Given the description of an element on the screen output the (x, y) to click on. 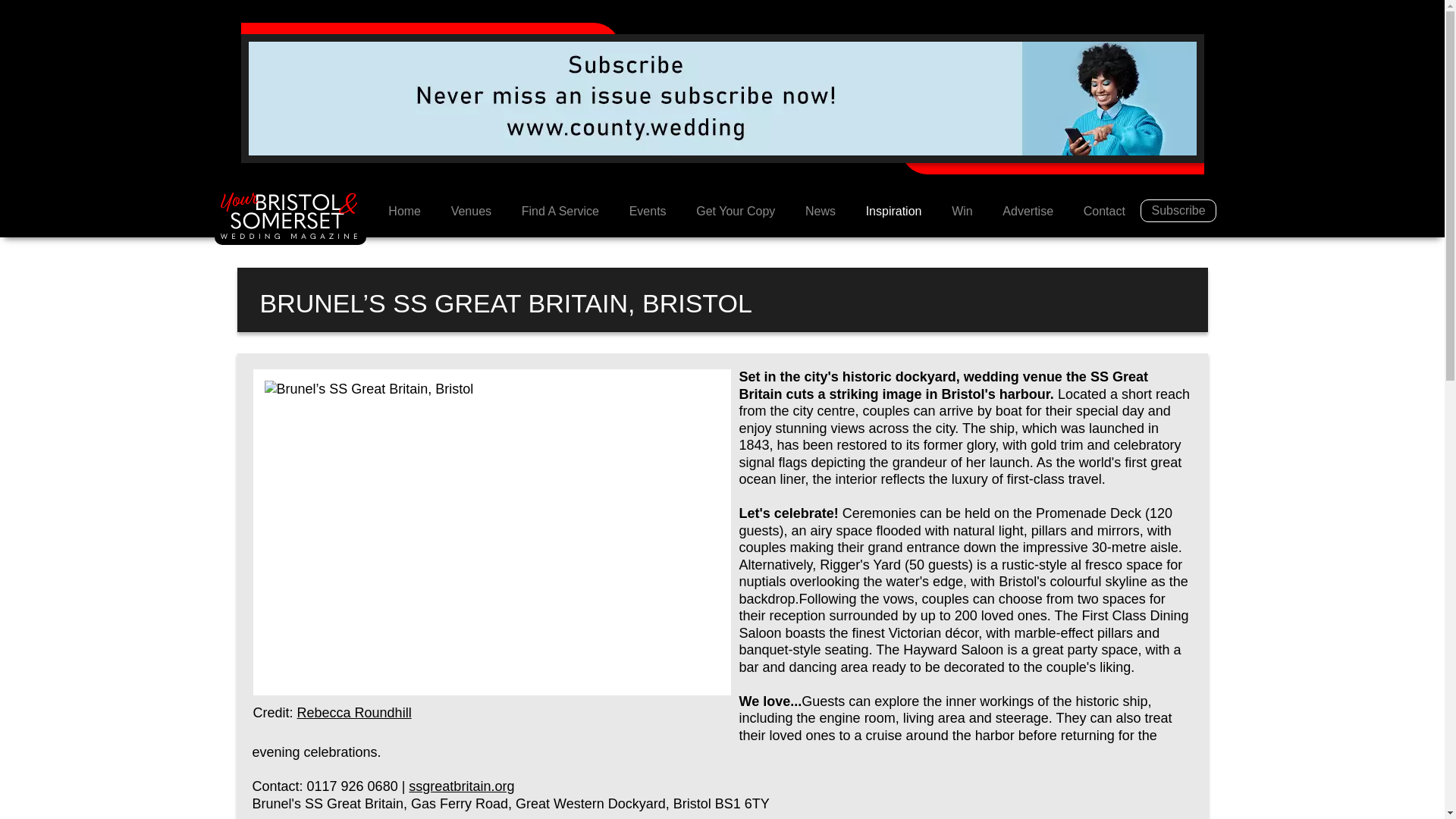
Find your dream wedding venue in Bristol and Somerset (470, 211)
Win (961, 211)
Get Your Copy (735, 211)
Inspiration (893, 211)
Venues (470, 211)
News (820, 211)
Your Bristol and Somerset Wedding (403, 211)
ssgreatbritain.org (461, 785)
